Given the description of an element on the screen output the (x, y) to click on. 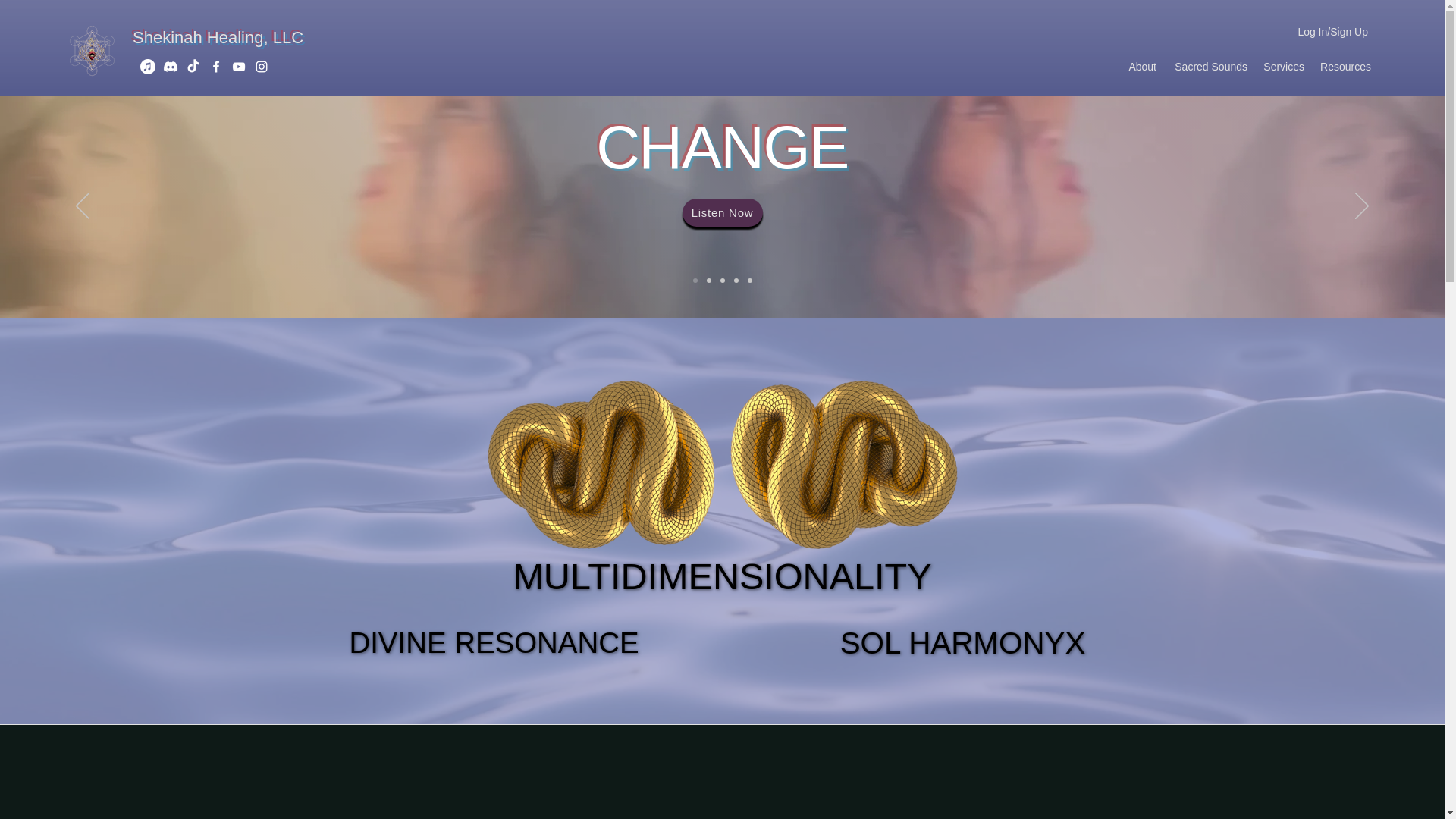
Resources (1344, 66)
Shekinah Healing, LLC (962, 647)
Services (217, 36)
Listen Now (1283, 66)
About (722, 212)
Sacred Sounds (1141, 66)
